Given the description of an element on the screen output the (x, y) to click on. 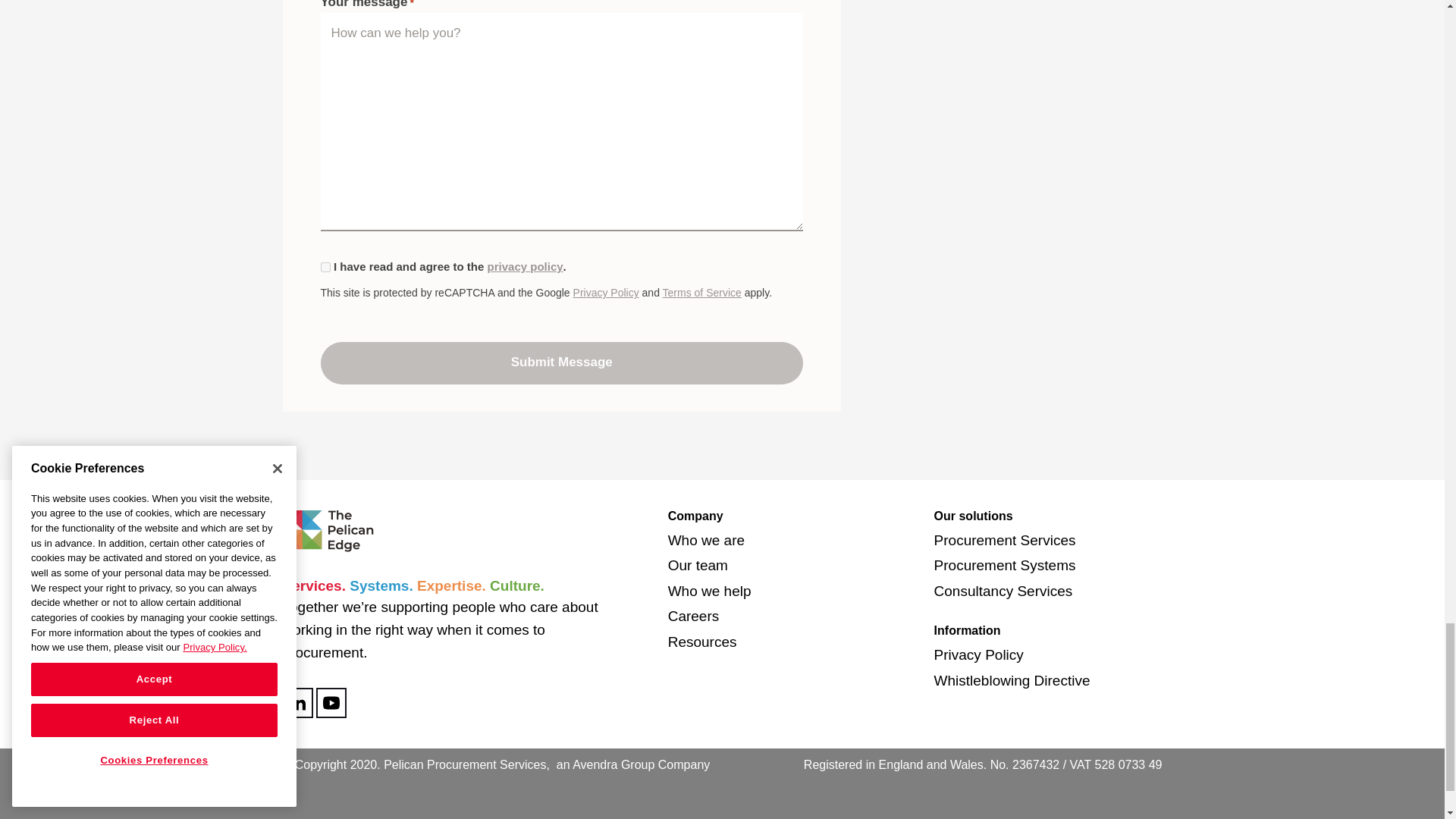
Submit Message (561, 363)
